Given the description of an element on the screen output the (x, y) to click on. 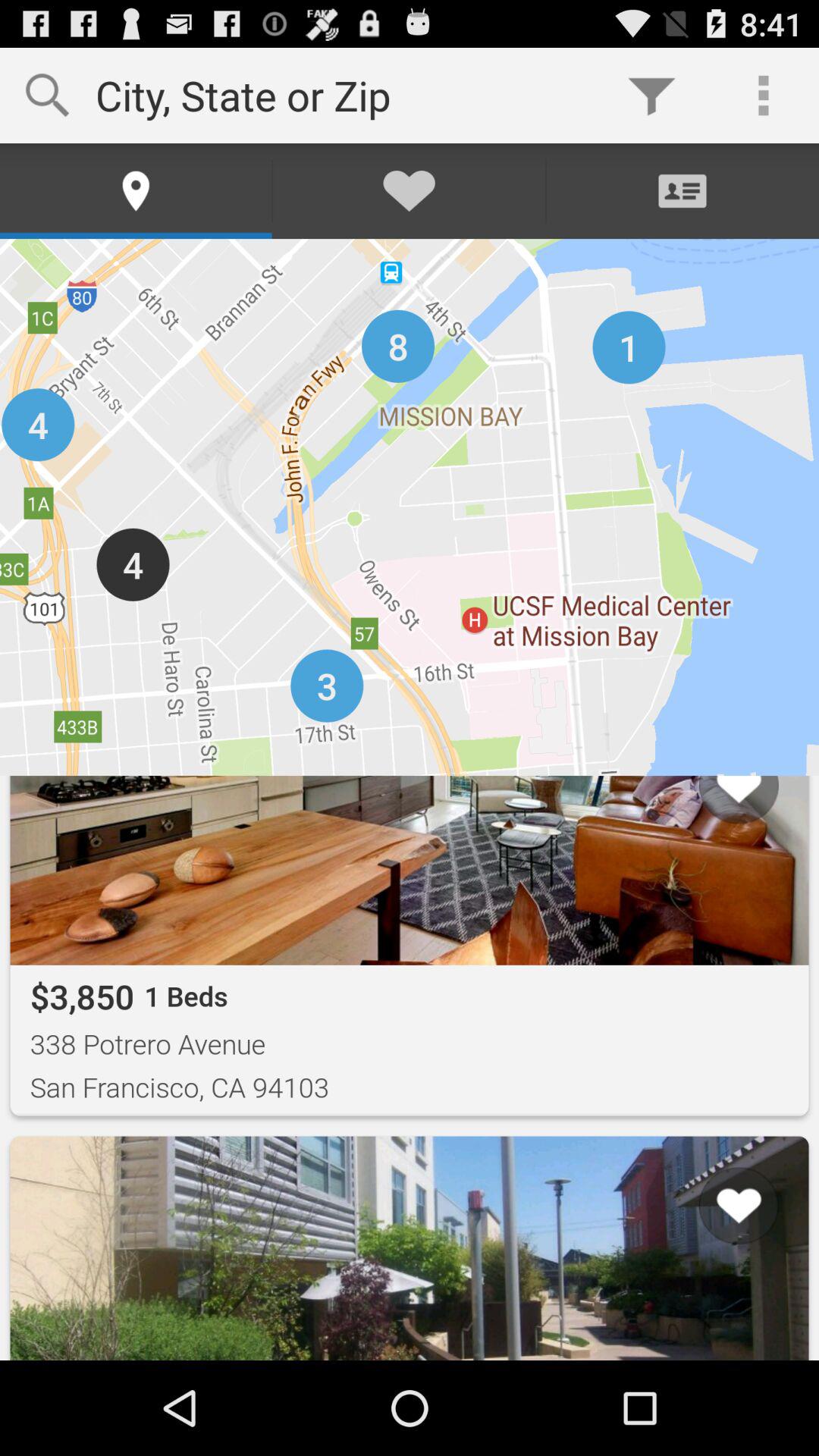
open the item next to city state or (651, 95)
